Given the description of an element on the screen output the (x, y) to click on. 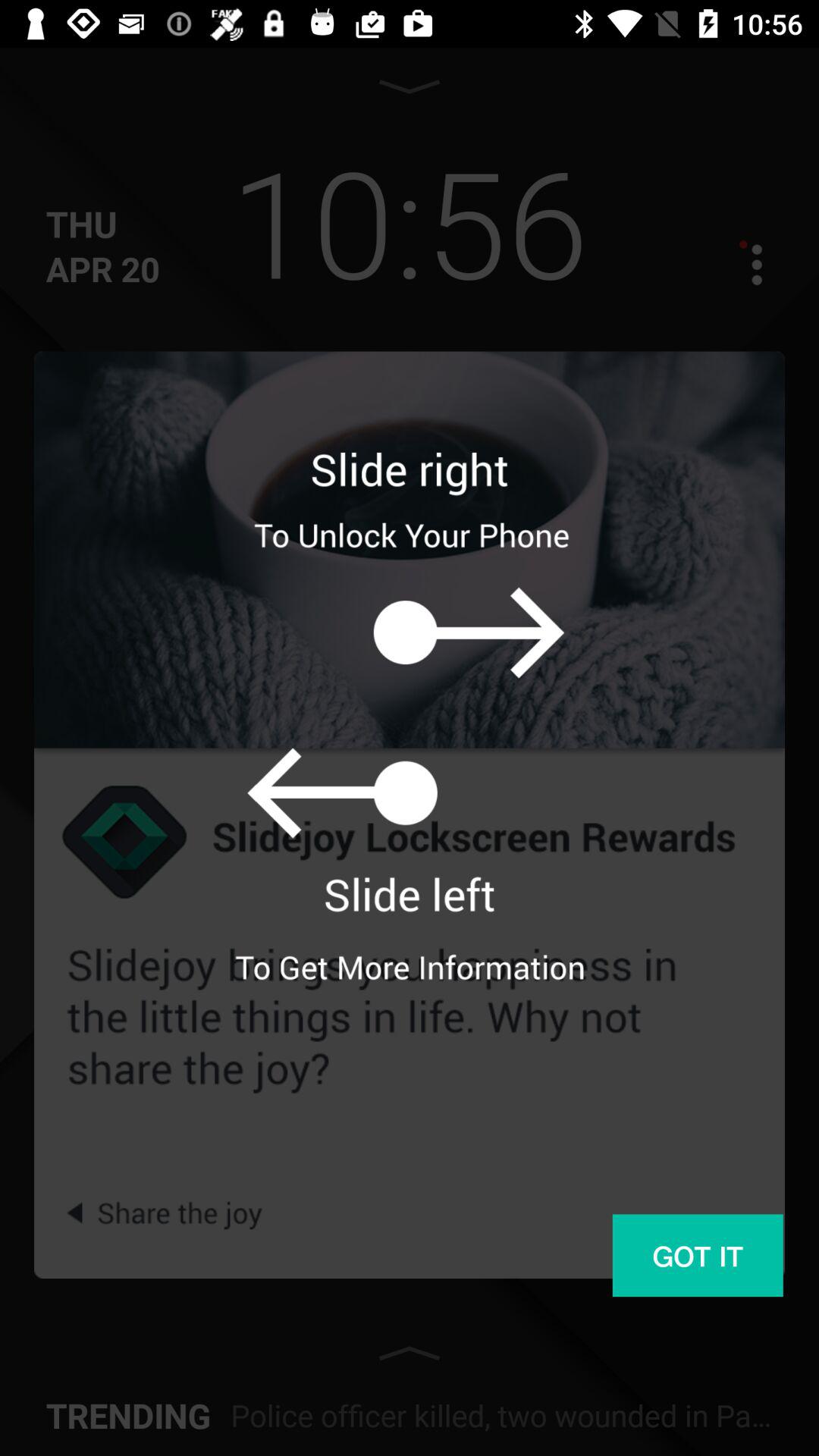
show more information (742, 264)
